Given the description of an element on the screen output the (x, y) to click on. 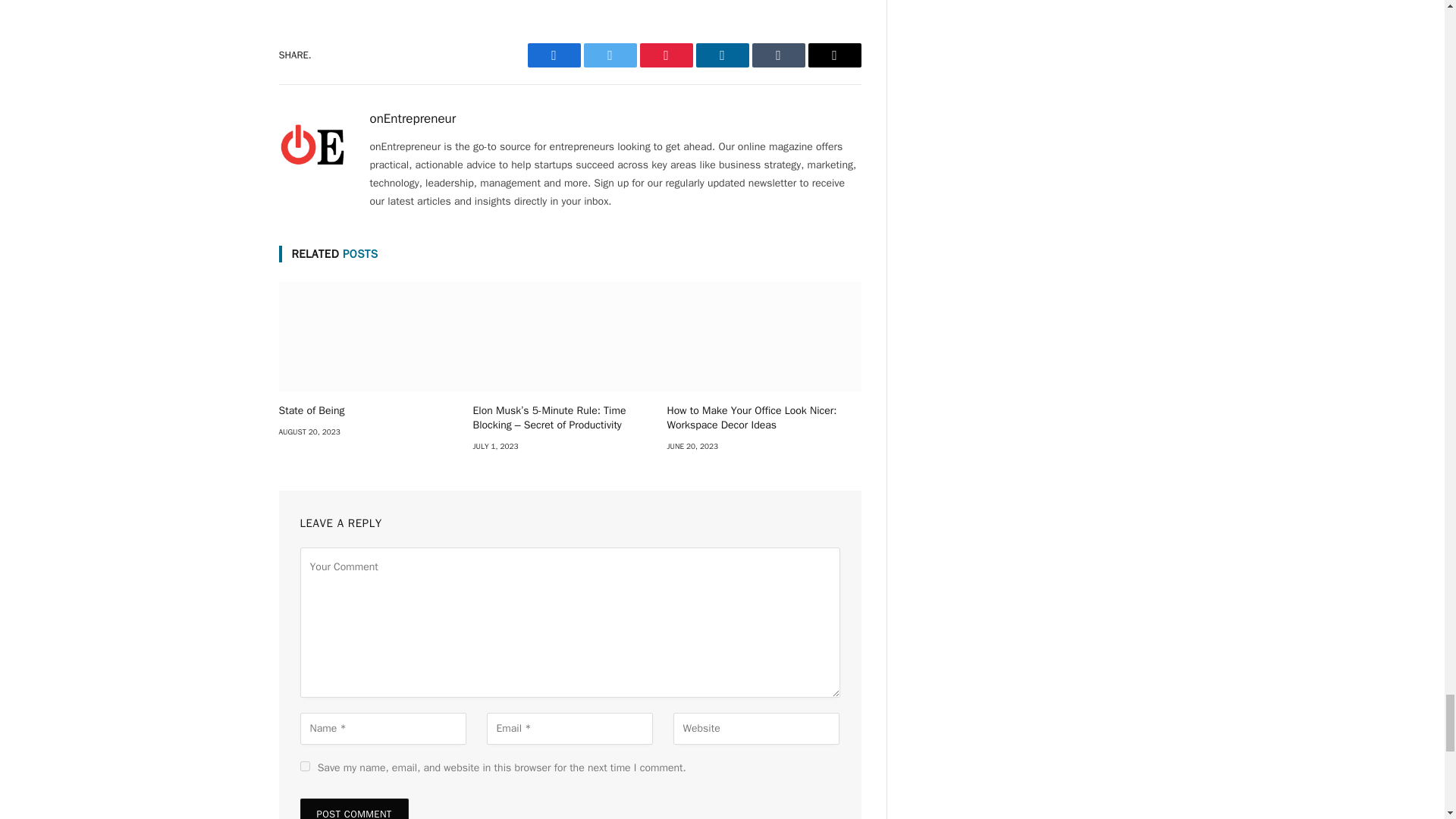
yes (304, 766)
Post Comment (354, 808)
